Given the description of an element on the screen output the (x, y) to click on. 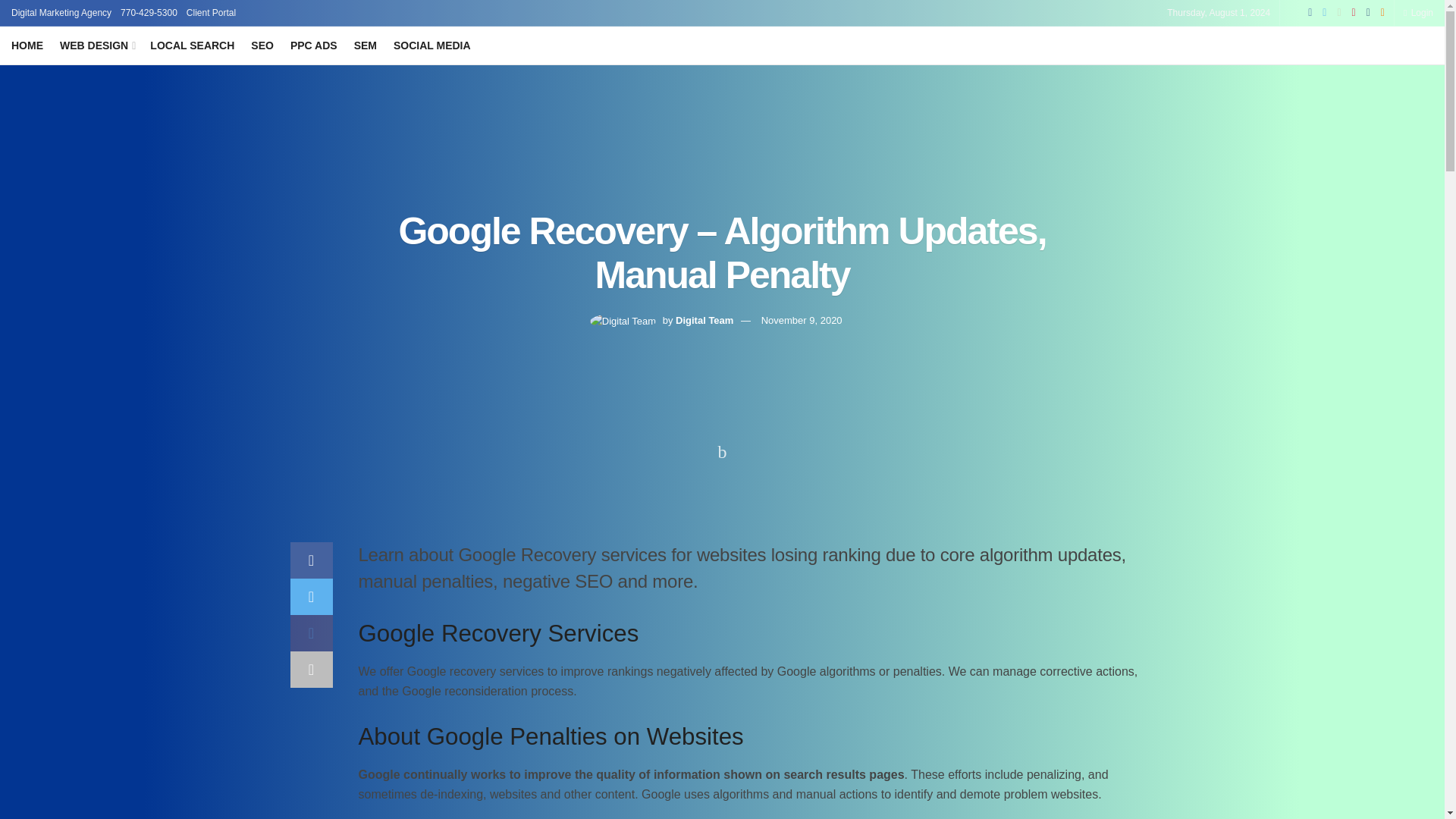
Client Portal (210, 12)
SOCIAL MEDIA (431, 45)
Login (1417, 12)
Blog Home (27, 45)
WEB DESIGN (96, 45)
PPC ADS (313, 45)
SEO (261, 45)
Call 770-429-5300 (148, 12)
LOCAL SEARCH (191, 45)
HOME (27, 45)
